Given the description of an element on the screen output the (x, y) to click on. 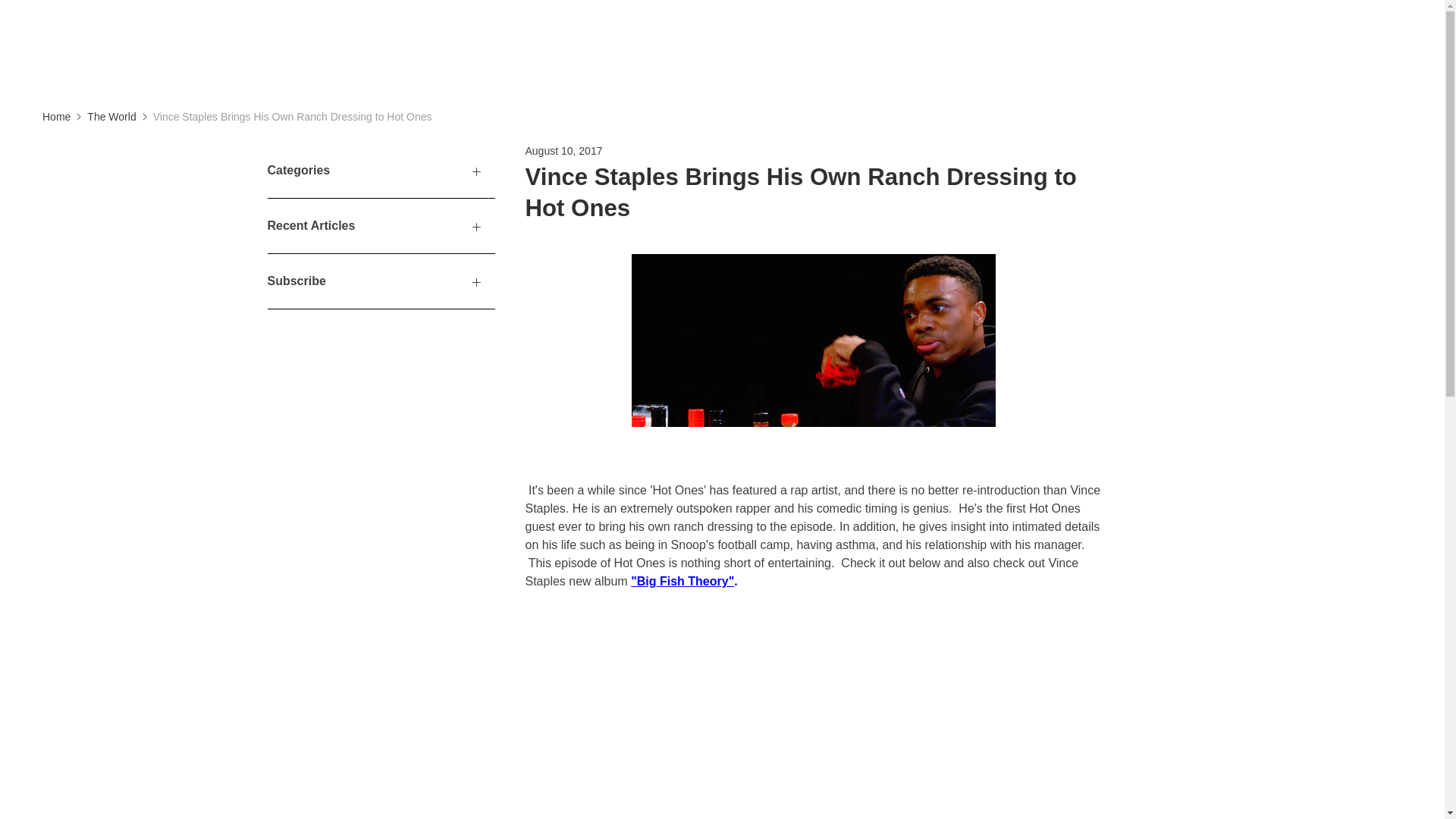
Categories (380, 170)
The World (111, 116)
Home (55, 116)
